Given the description of an element on the screen output the (x, y) to click on. 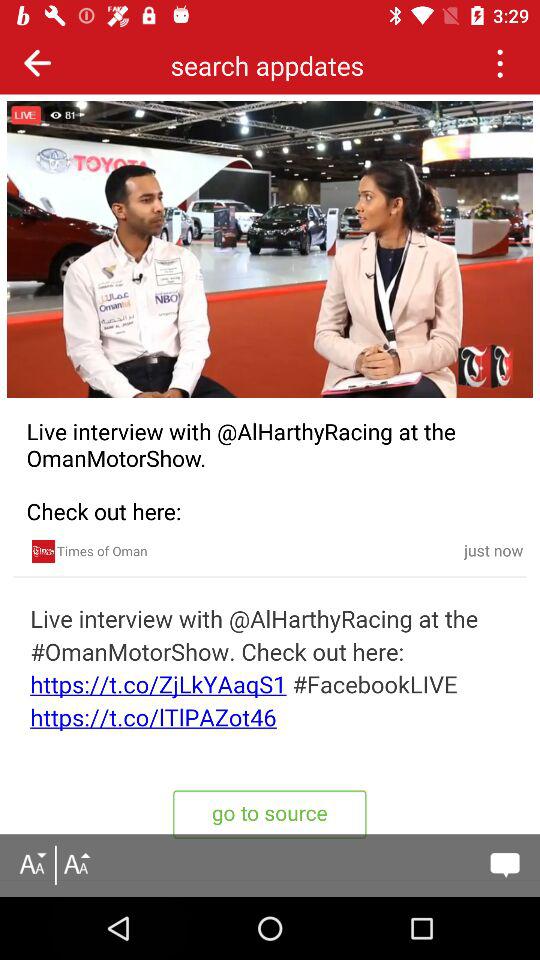
font style (76, 865)
